Given the description of an element on the screen output the (x, y) to click on. 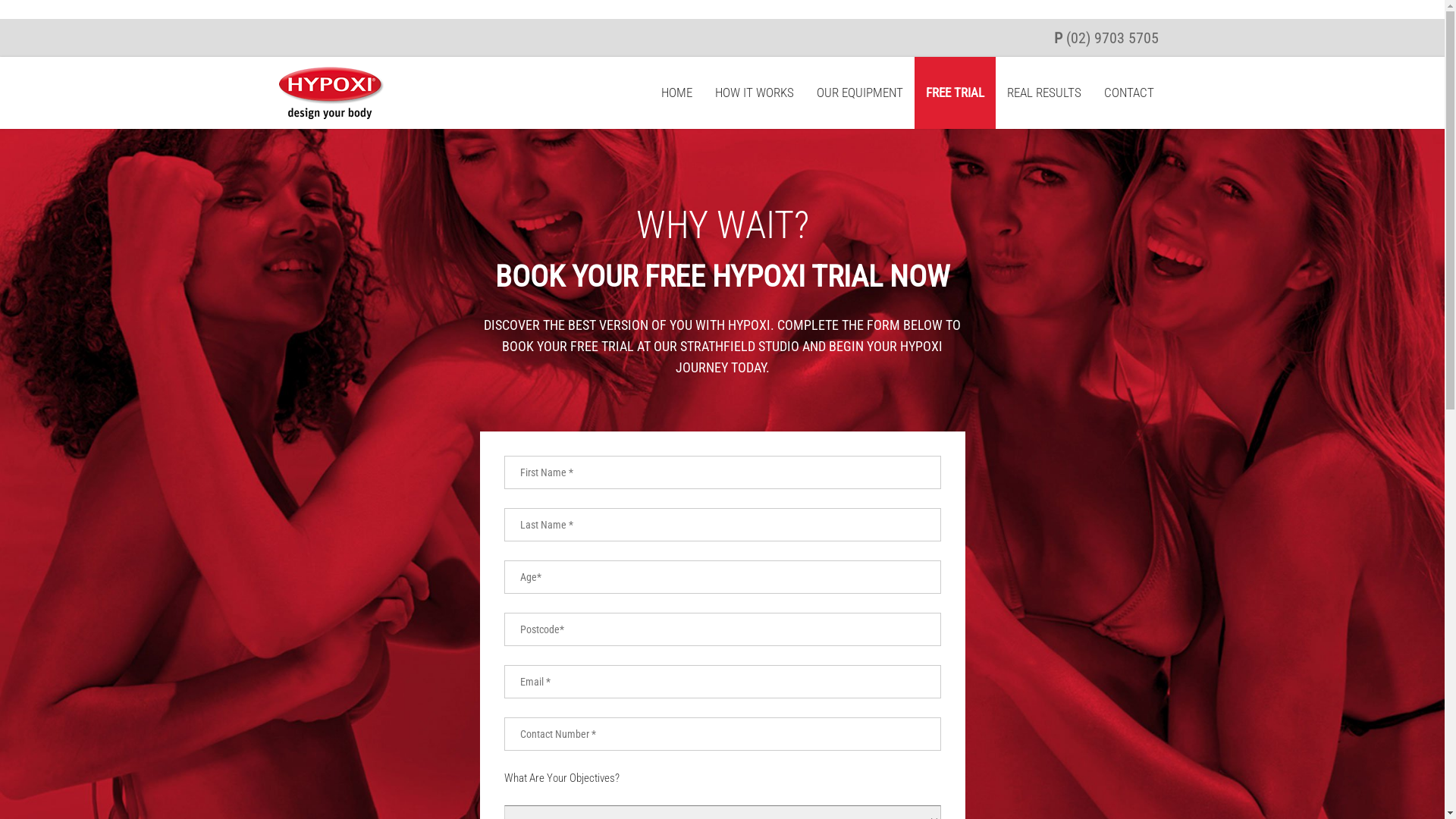
HOW IT WORKS Element type: text (754, 92)
REAL RESULTS Element type: text (1043, 92)
HOME Element type: text (676, 92)
OUR EQUIPMENT Element type: text (859, 92)
CONTACT Element type: text (1128, 92)
Hypoxi Strathfield Element type: hover (331, 115)
FREE TRIAL Element type: text (954, 92)
